Given the description of an element on the screen output the (x, y) to click on. 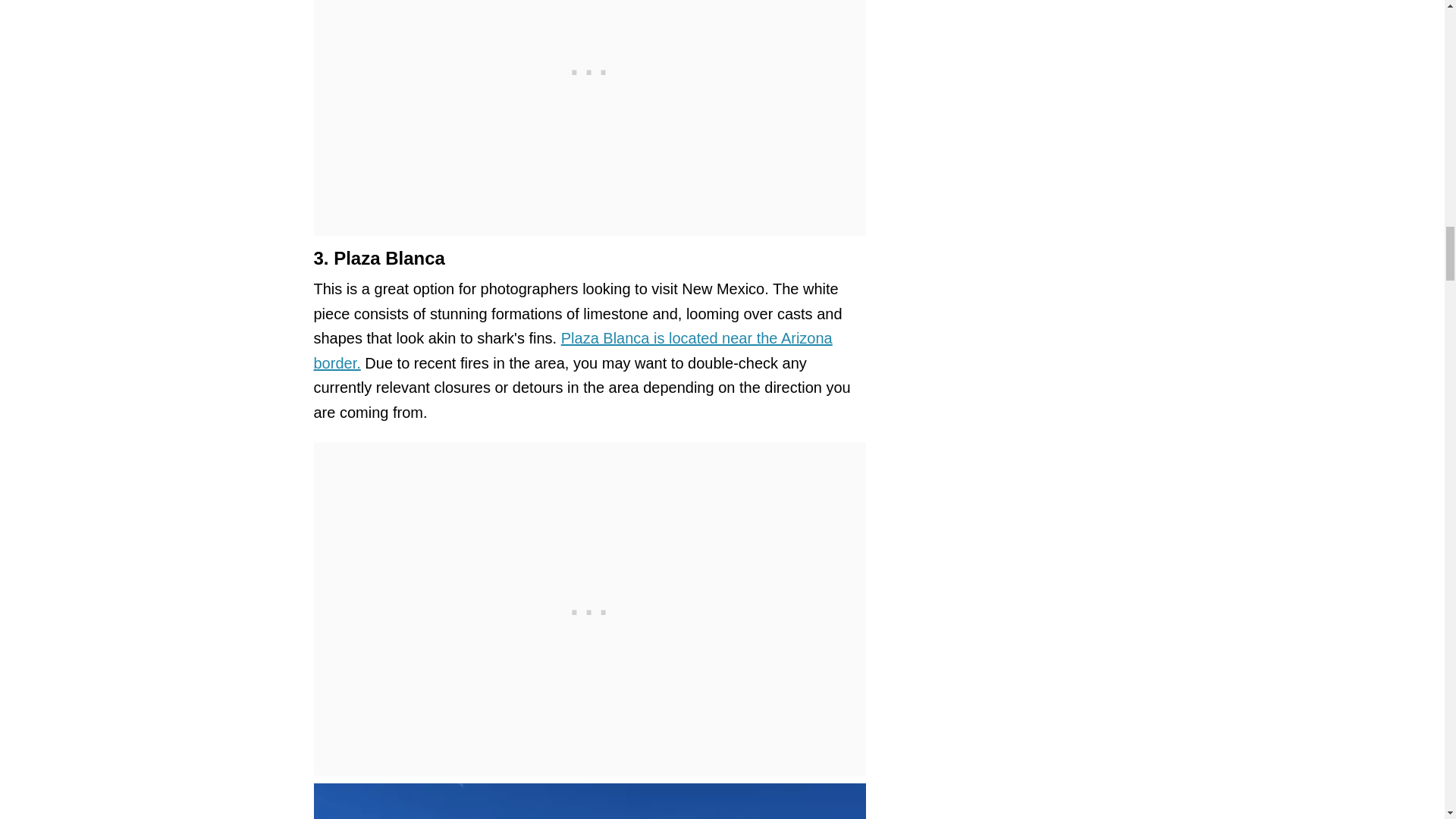
Plaza Blanca is located near the Arizona border. (573, 350)
